Given the description of an element on the screen output the (x, y) to click on. 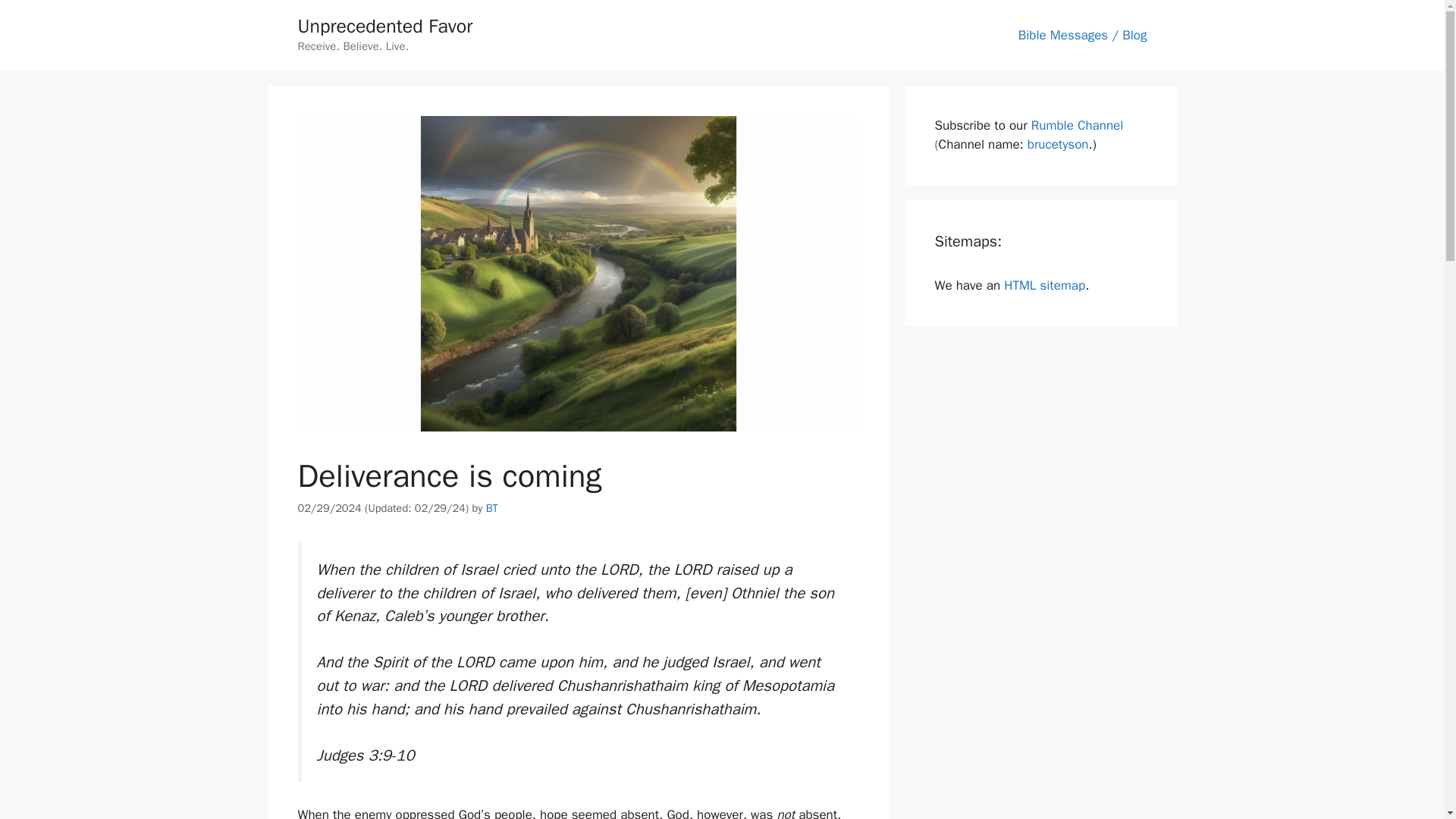
View all posts by BT (491, 508)
Unprecedented Favor (384, 25)
brucetyson (1058, 144)
BT (491, 508)
HTML sitemap (1044, 285)
